Given the description of an element on the screen output the (x, y) to click on. 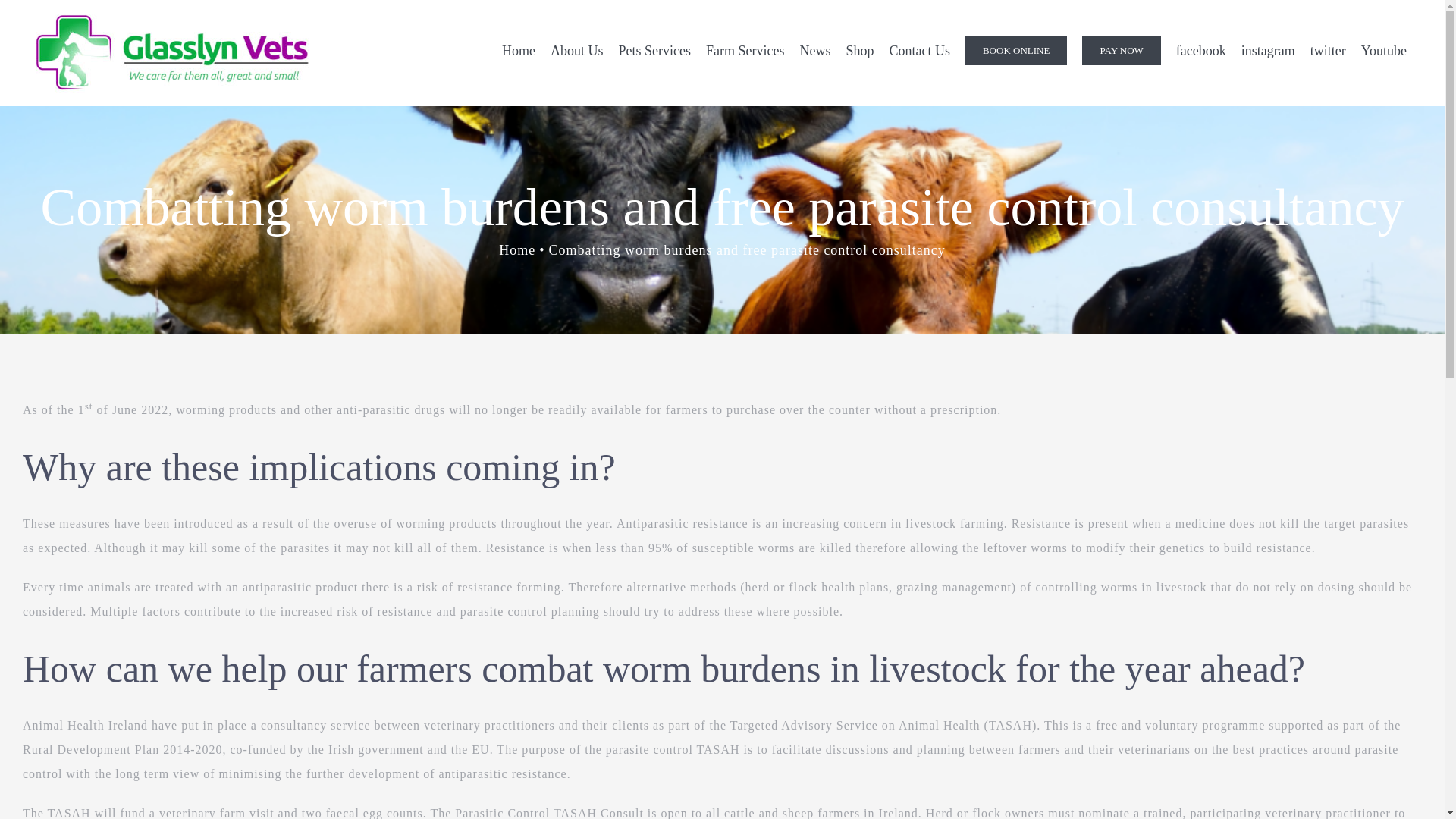
Shop (859, 50)
PAY NOW (1120, 50)
instagram (1268, 50)
Pets Services (653, 50)
facebook (1201, 50)
Contact Us (919, 50)
BOOK ONLINE (1016, 50)
About Us (577, 50)
Home (519, 50)
Farm Services (745, 50)
